Given the description of an element on the screen output the (x, y) to click on. 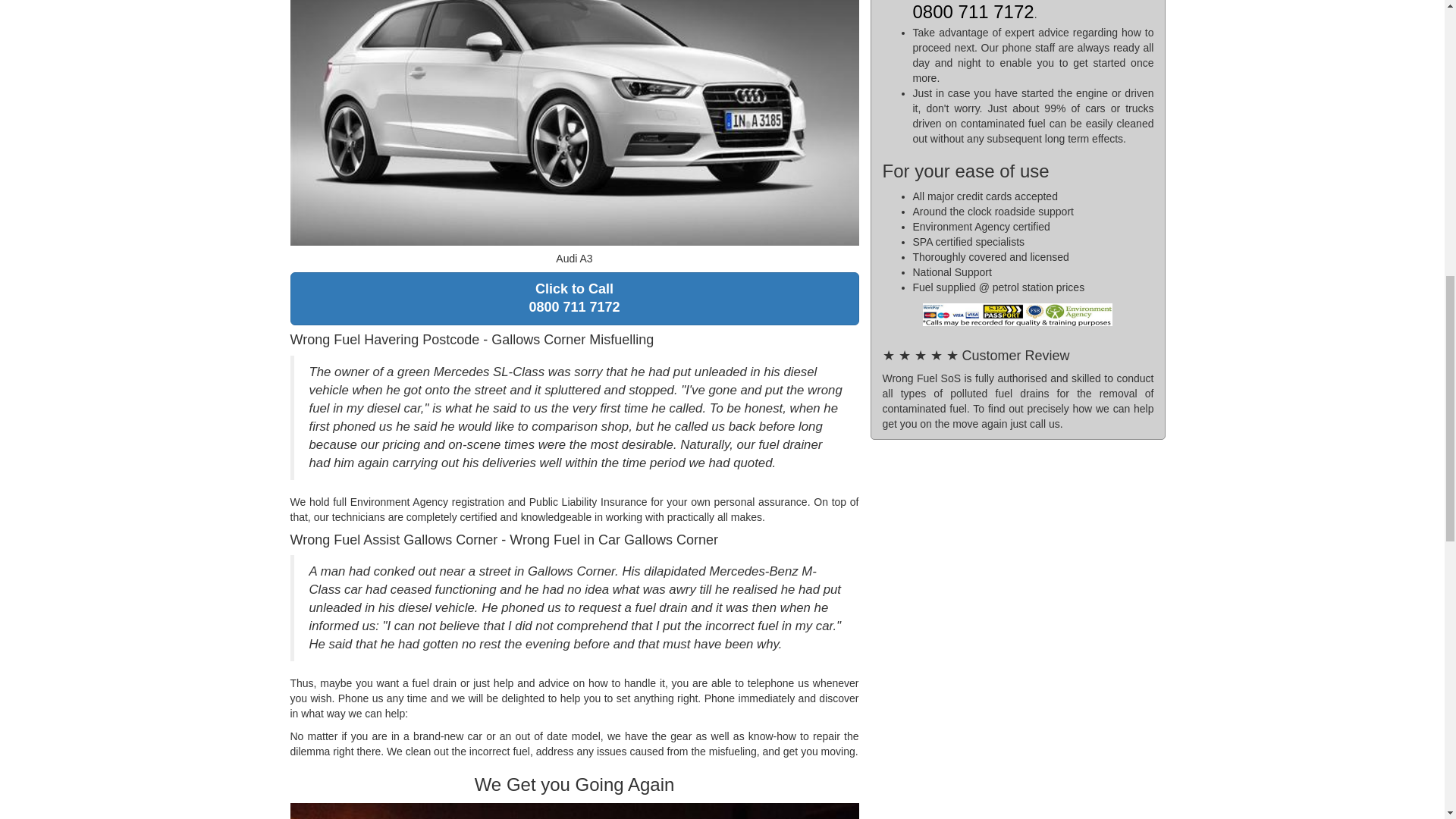
0800 711 7172 (574, 298)
